Given the description of an element on the screen output the (x, y) to click on. 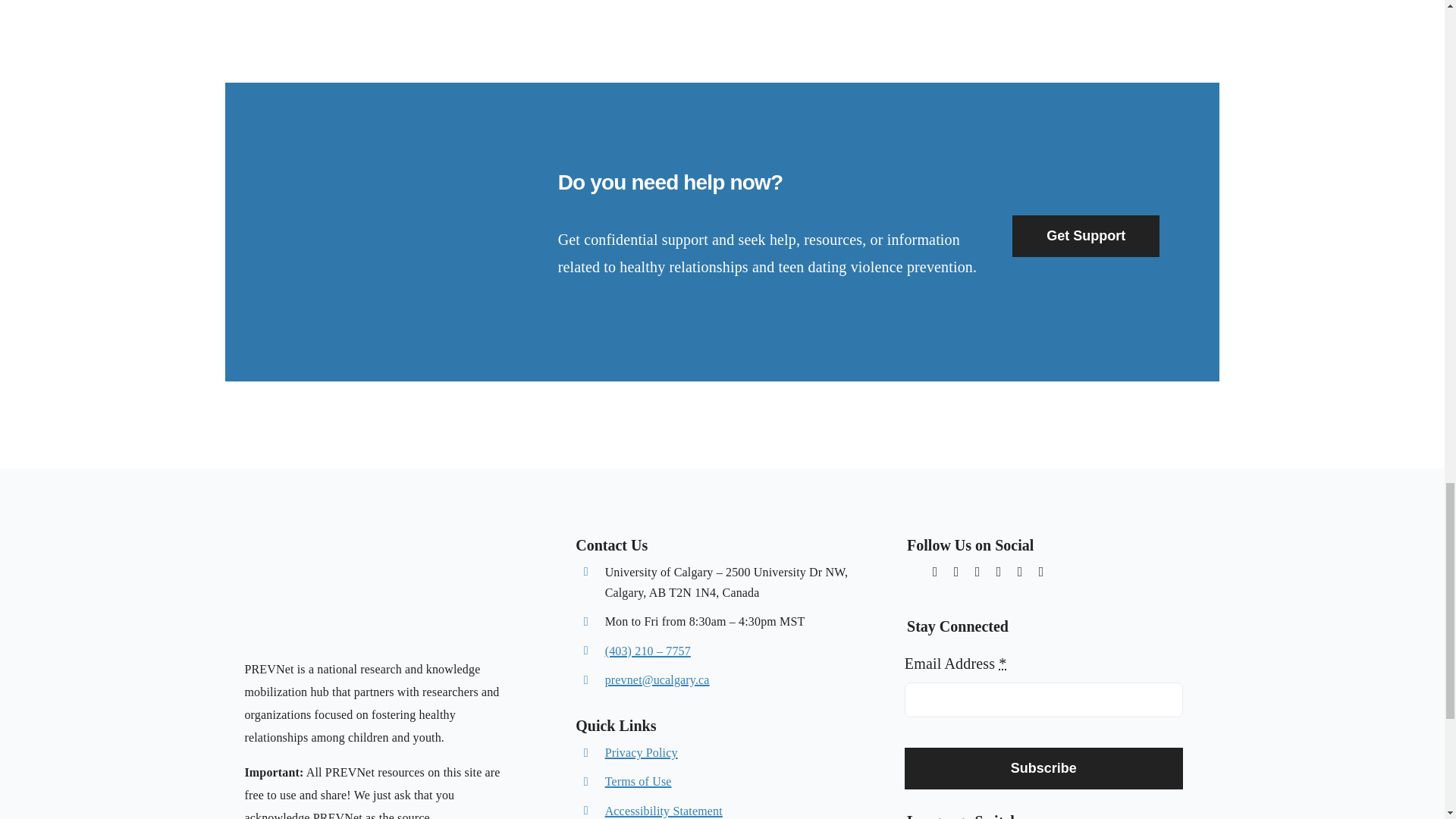
Facebook (998, 571)
YouTube (1019, 571)
LinkedIn (1040, 571)
Threads (913, 569)
Instagram (955, 571)
UCalgary Logo (301, 628)
X (935, 571)
Pinterest (977, 571)
